Given the description of an element on the screen output the (x, y) to click on. 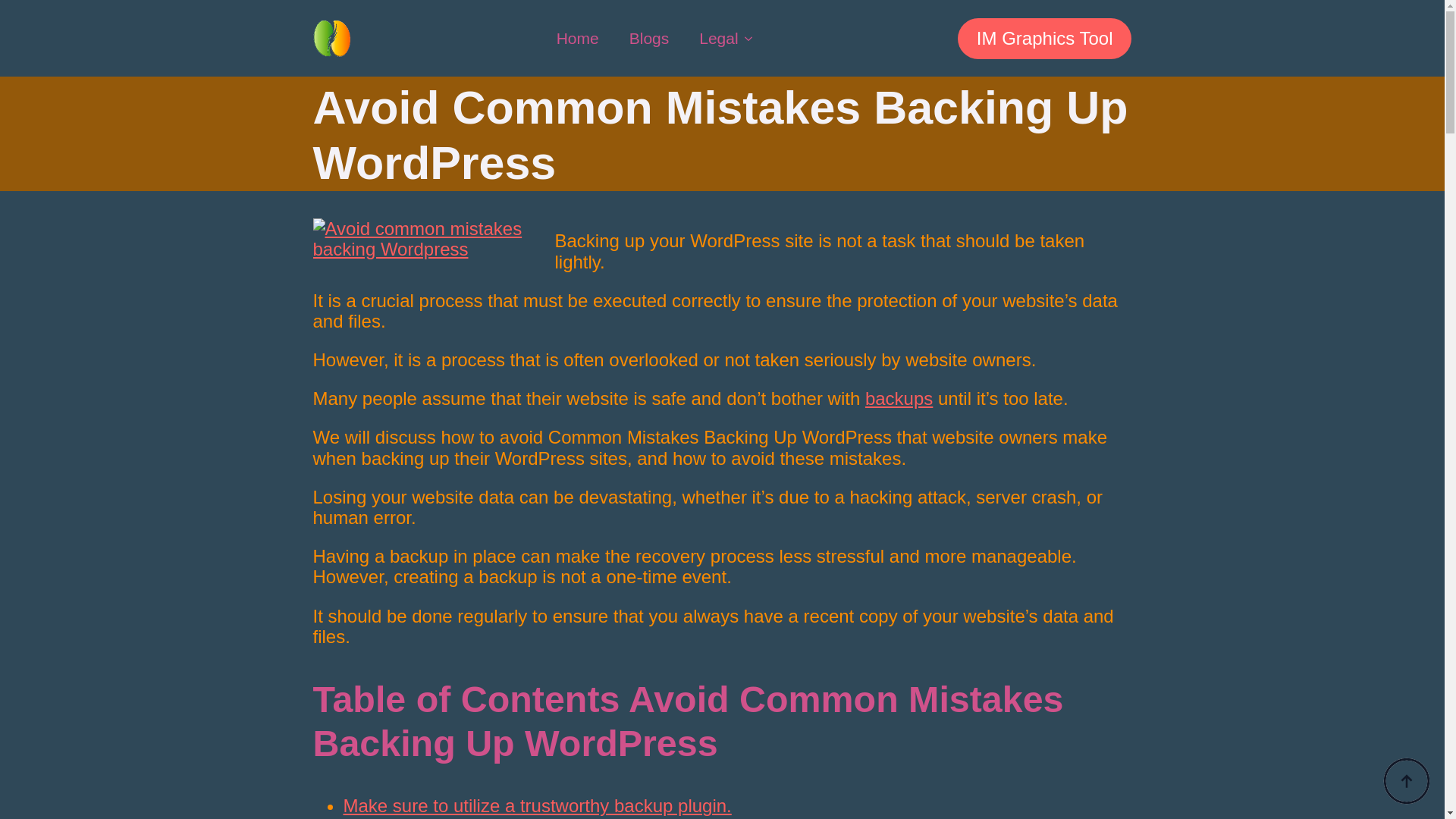
IM Graphics Tool (1045, 38)
Legal (711, 38)
Make sure to utilize a trustworthy backup plugin. (536, 805)
backups (898, 398)
Home (577, 38)
Blogs (649, 38)
